Given the description of an element on the screen output the (x, y) to click on. 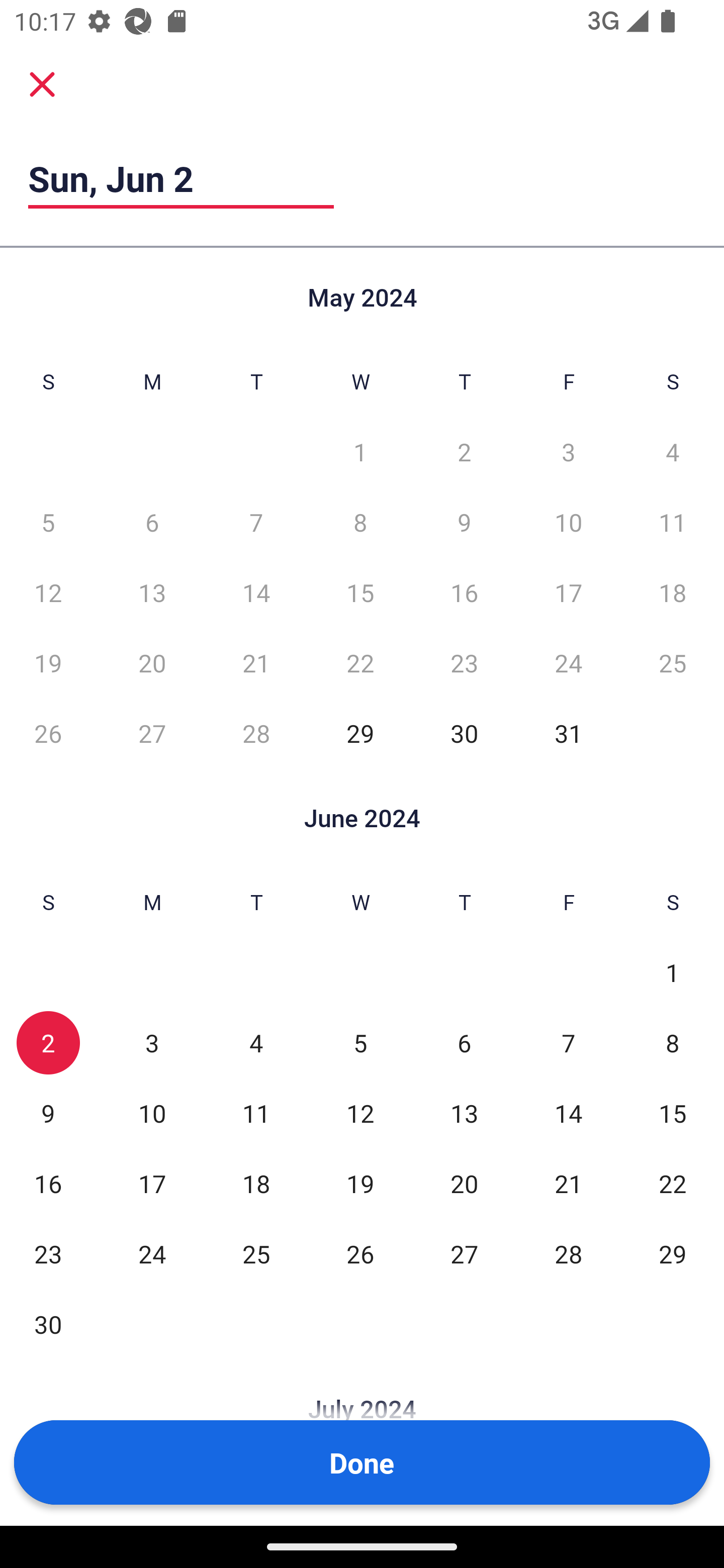
Cancel (41, 83)
Sun, Jun 2 (180, 178)
1 Wed, May 1, Not Selected (360, 452)
2 Thu, May 2, Not Selected (464, 452)
3 Fri, May 3, Not Selected (568, 452)
4 Sat, May 4, Not Selected (672, 452)
5 Sun, May 5, Not Selected (48, 521)
6 Mon, May 6, Not Selected (152, 521)
7 Tue, May 7, Not Selected (256, 521)
8 Wed, May 8, Not Selected (360, 521)
9 Thu, May 9, Not Selected (464, 521)
10 Fri, May 10, Not Selected (568, 521)
11 Sat, May 11, Not Selected (672, 521)
12 Sun, May 12, Not Selected (48, 591)
13 Mon, May 13, Not Selected (152, 591)
14 Tue, May 14, Not Selected (256, 591)
15 Wed, May 15, Not Selected (360, 591)
16 Thu, May 16, Not Selected (464, 591)
17 Fri, May 17, Not Selected (568, 591)
18 Sat, May 18, Not Selected (672, 591)
19 Sun, May 19, Not Selected (48, 662)
20 Mon, May 20, Not Selected (152, 662)
21 Tue, May 21, Not Selected (256, 662)
22 Wed, May 22, Not Selected (360, 662)
23 Thu, May 23, Not Selected (464, 662)
24 Fri, May 24, Not Selected (568, 662)
25 Sat, May 25, Not Selected (672, 662)
26 Sun, May 26, Not Selected (48, 732)
27 Mon, May 27, Not Selected (152, 732)
28 Tue, May 28, Not Selected (256, 732)
29 Wed, May 29, Not Selected (360, 732)
30 Thu, May 30, Not Selected (464, 732)
31 Fri, May 31, Not Selected (568, 732)
1 Sat, Jun 1, Not Selected (672, 972)
2 Sun, Jun 2, Selected (48, 1043)
3 Mon, Jun 3, Not Selected (152, 1043)
4 Tue, Jun 4, Not Selected (256, 1043)
5 Wed, Jun 5, Not Selected (360, 1043)
6 Thu, Jun 6, Not Selected (464, 1043)
7 Fri, Jun 7, Not Selected (568, 1043)
8 Sat, Jun 8, Not Selected (672, 1043)
9 Sun, Jun 9, Not Selected (48, 1112)
10 Mon, Jun 10, Not Selected (152, 1112)
11 Tue, Jun 11, Not Selected (256, 1112)
12 Wed, Jun 12, Not Selected (360, 1112)
13 Thu, Jun 13, Not Selected (464, 1112)
14 Fri, Jun 14, Not Selected (568, 1112)
15 Sat, Jun 15, Not Selected (672, 1112)
16 Sun, Jun 16, Not Selected (48, 1182)
17 Mon, Jun 17, Not Selected (152, 1182)
18 Tue, Jun 18, Not Selected (256, 1182)
19 Wed, Jun 19, Not Selected (360, 1182)
20 Thu, Jun 20, Not Selected (464, 1182)
21 Fri, Jun 21, Not Selected (568, 1182)
22 Sat, Jun 22, Not Selected (672, 1182)
23 Sun, Jun 23, Not Selected (48, 1253)
24 Mon, Jun 24, Not Selected (152, 1253)
25 Tue, Jun 25, Not Selected (256, 1253)
26 Wed, Jun 26, Not Selected (360, 1253)
27 Thu, Jun 27, Not Selected (464, 1253)
28 Fri, Jun 28, Not Selected (568, 1253)
29 Sat, Jun 29, Not Selected (672, 1253)
30 Sun, Jun 30, Not Selected (48, 1323)
Done Button Done (361, 1462)
